Given the description of an element on the screen output the (x, y) to click on. 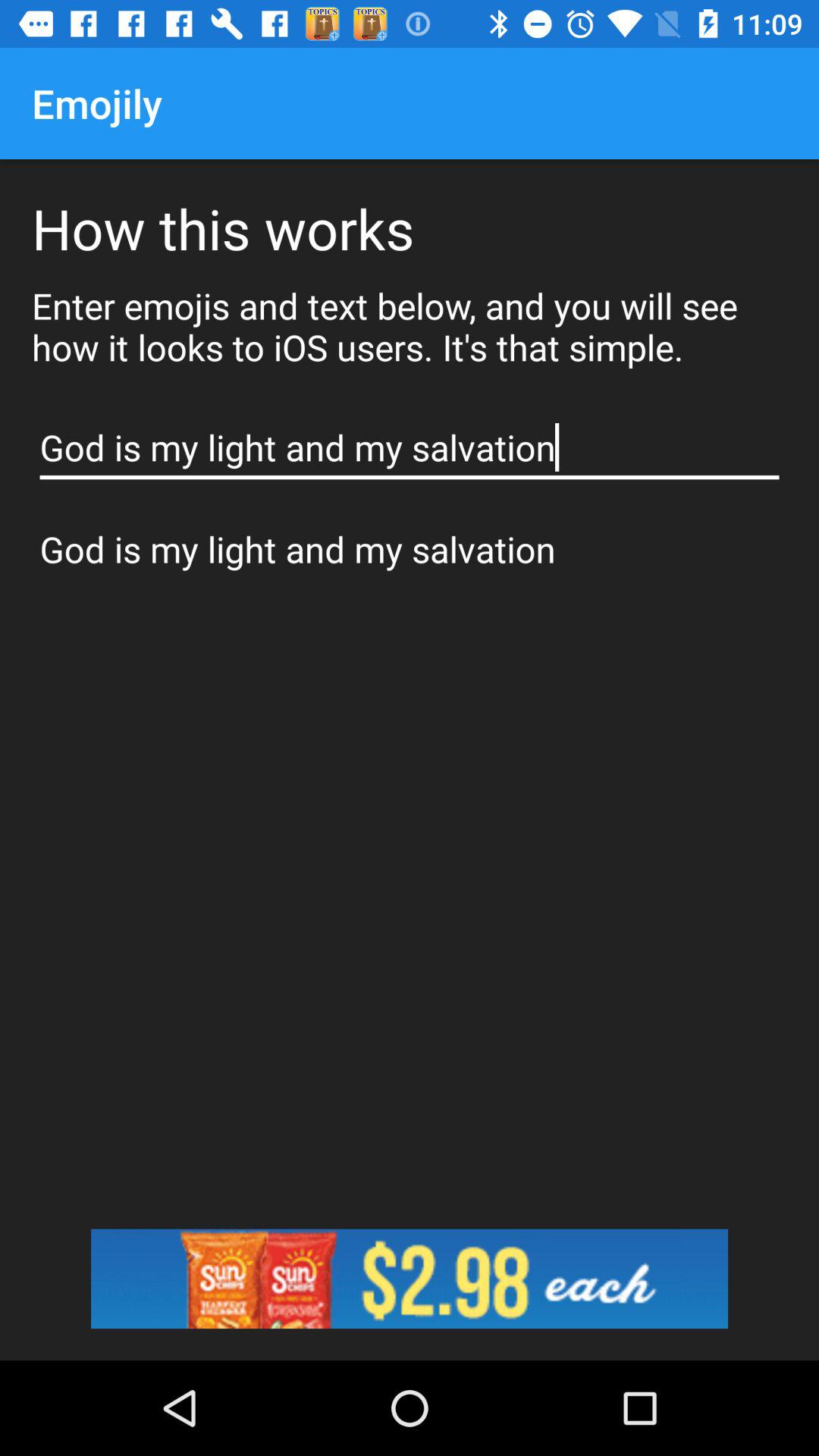
select image (409, 1278)
